Given the description of an element on the screen output the (x, y) to click on. 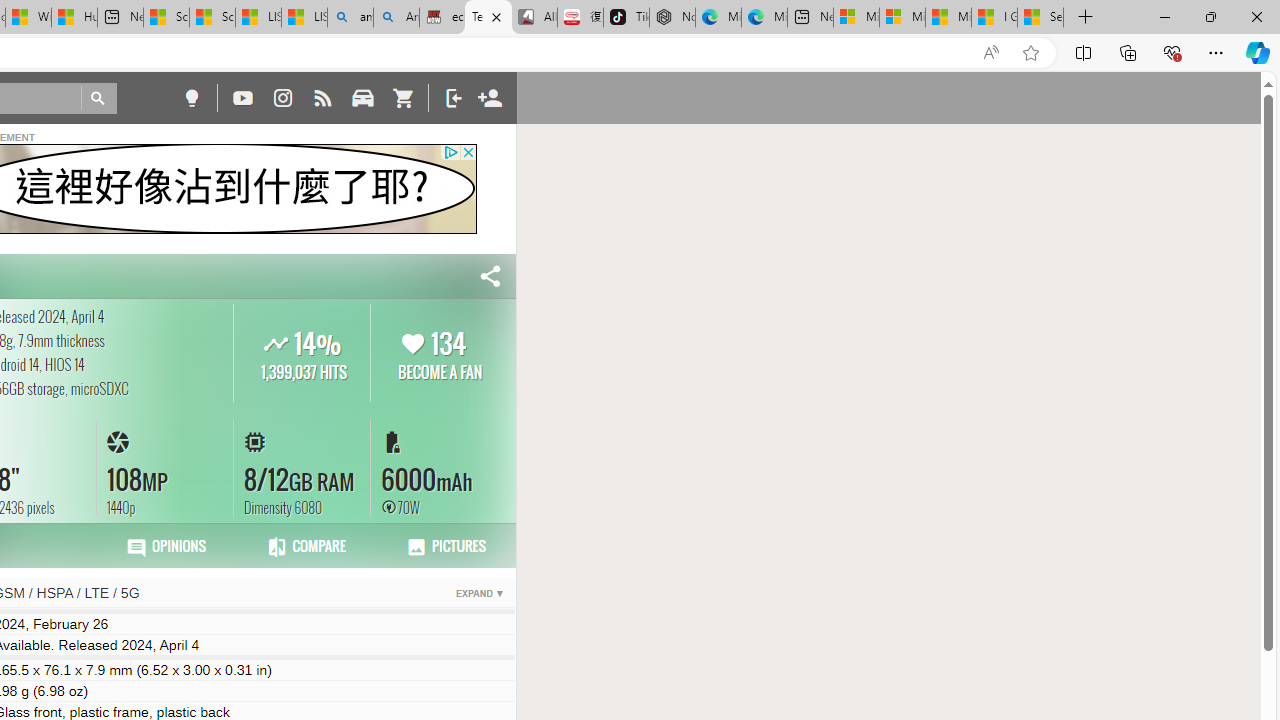
Microsoft account | Privacy (902, 17)
Tecno Pova 6 Pro - Full phone specifications (487, 17)
Tecno Pova 6 Pro user reviews and opinions (165, 546)
